Given the description of an element on the screen output the (x, y) to click on. 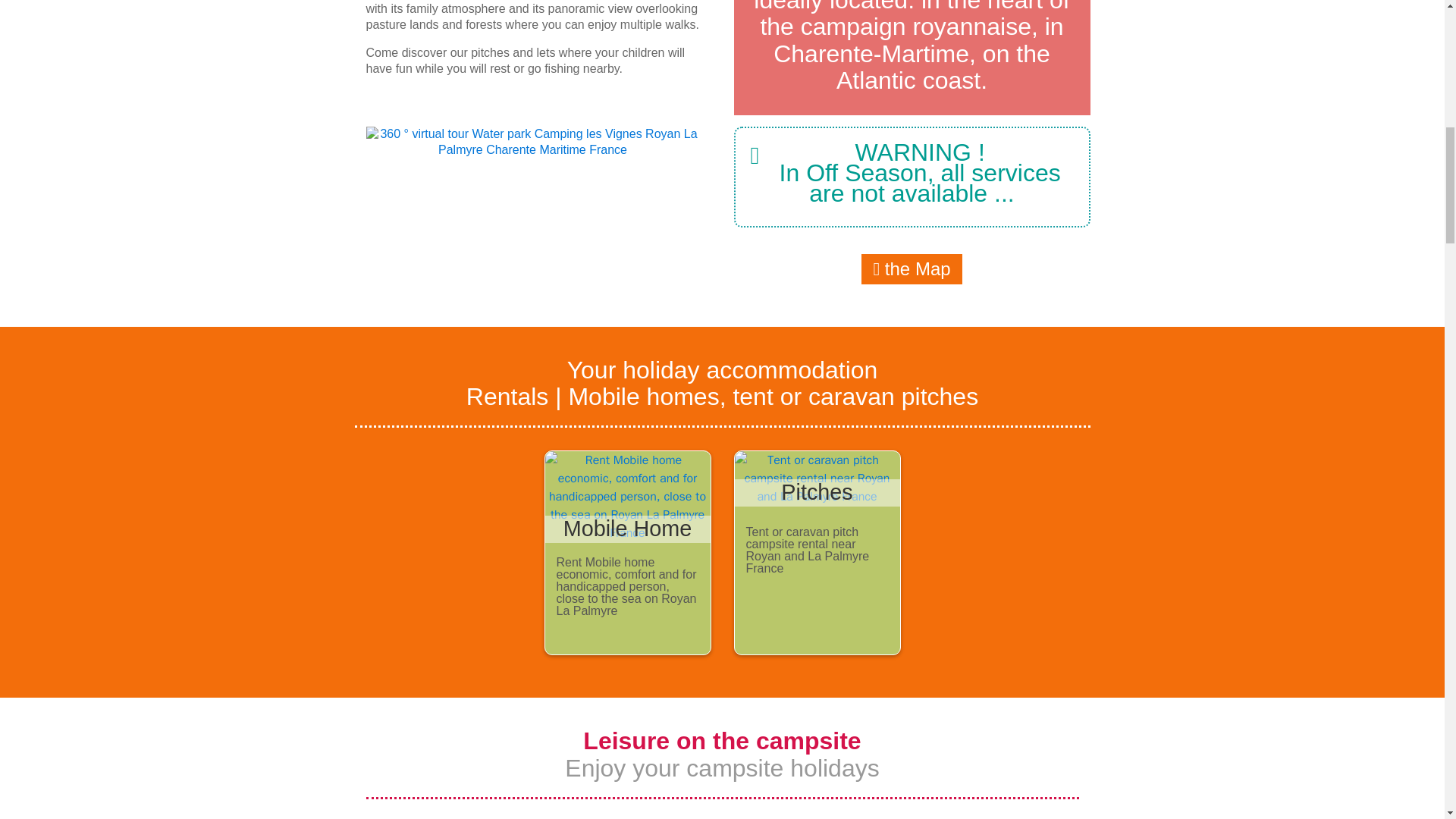
the Map (910, 268)
